Given the description of an element on the screen output the (x, y) to click on. 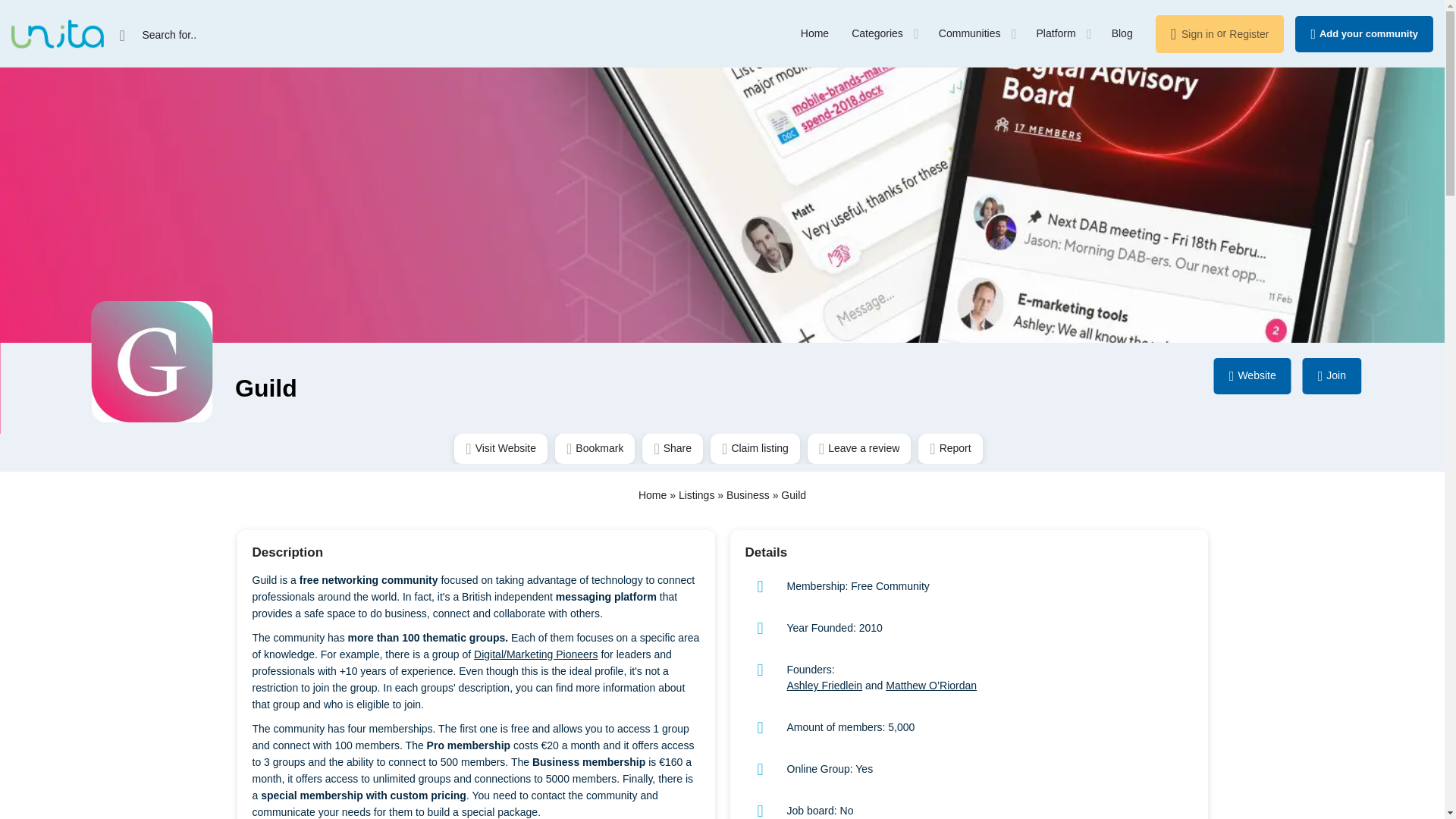
Communities (970, 32)
Home (814, 32)
Categories (876, 32)
Platform (1055, 32)
